Given the description of an element on the screen output the (x, y) to click on. 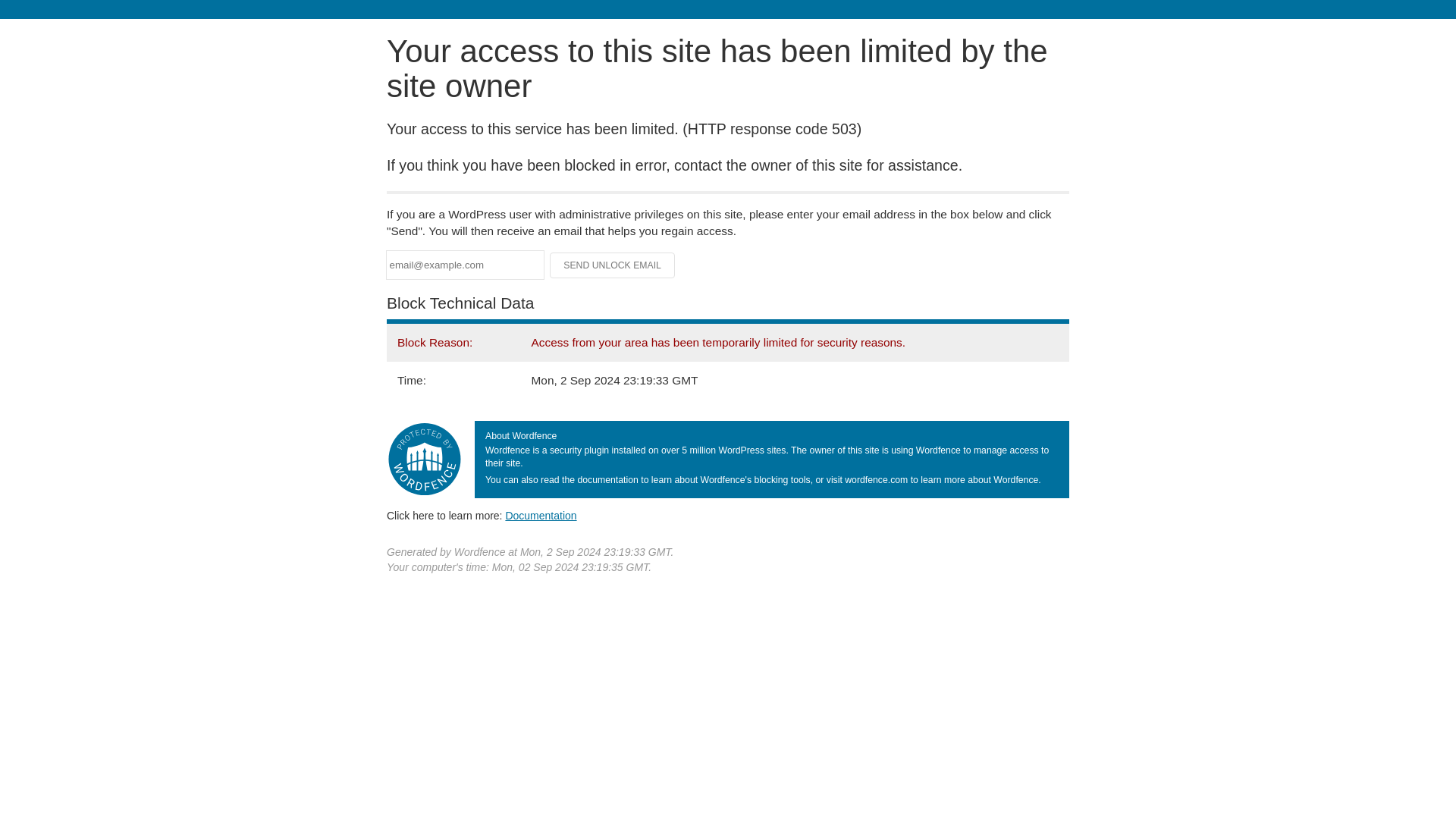
Send Unlock Email (612, 265)
Send Unlock Email (612, 265)
Documentation (540, 515)
